Given the description of an element on the screen output the (x, y) to click on. 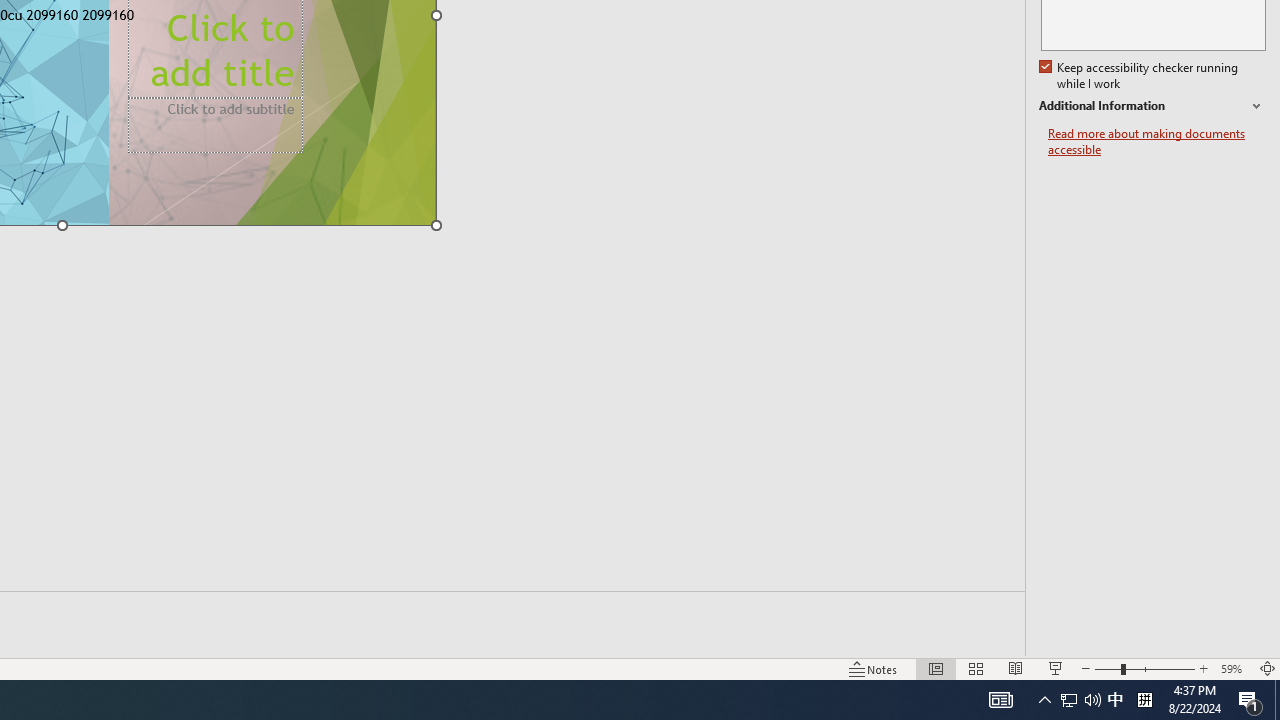
Zoom 59% (1234, 668)
